Given the description of an element on the screen output the (x, y) to click on. 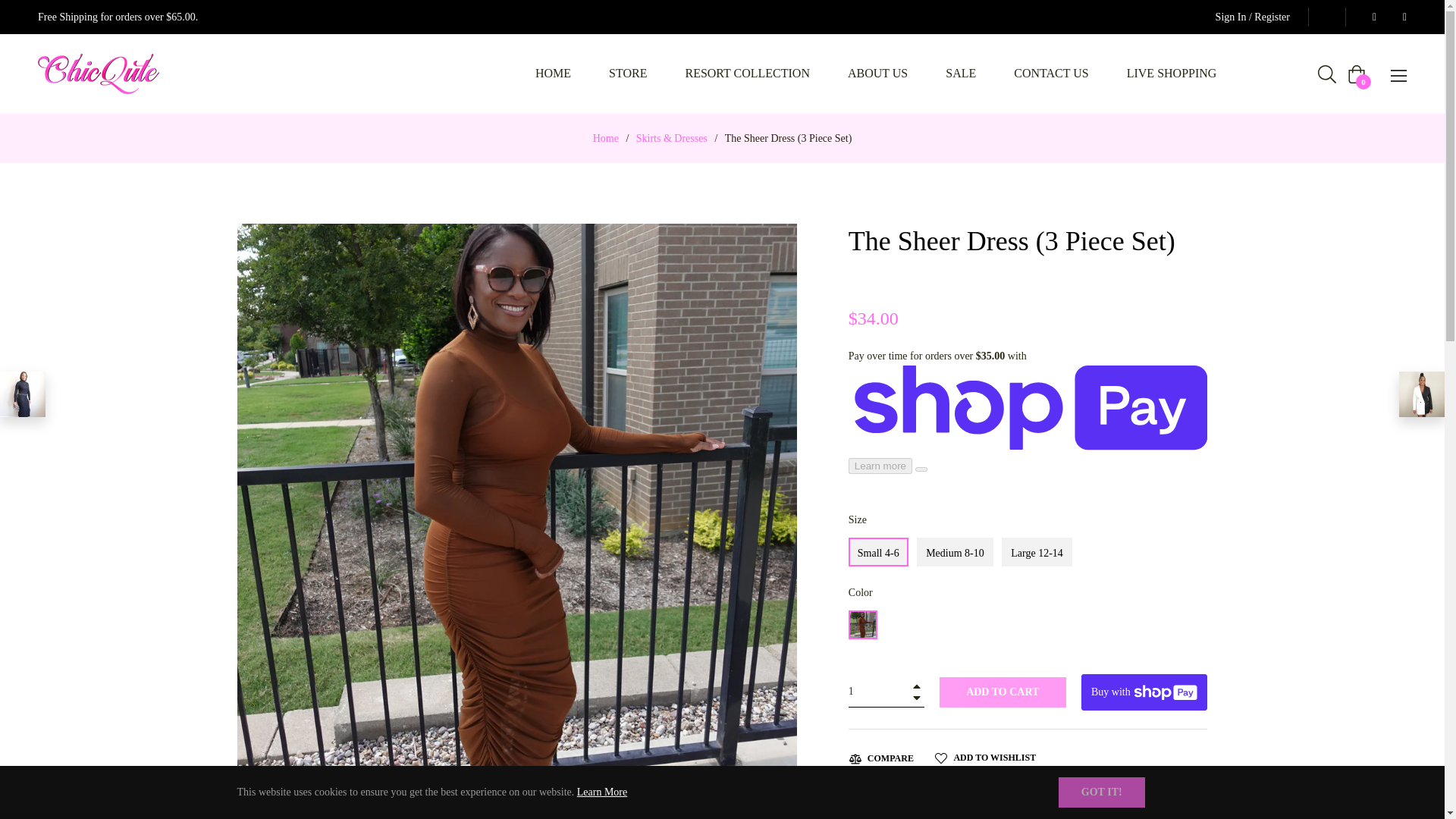
HOME (552, 73)
Sign In (1230, 17)
Shopping Cart (1356, 74)
ChicQute on Facebook (1369, 16)
STORE (627, 73)
ABOUT US (877, 73)
1 (886, 692)
CONTACT US (1050, 73)
LIVE SHOPPING (1172, 73)
Home (606, 138)
RESORT COLLECTION (746, 73)
ChicQute on Instagram (1400, 16)
